Given the description of an element on the screen output the (x, y) to click on. 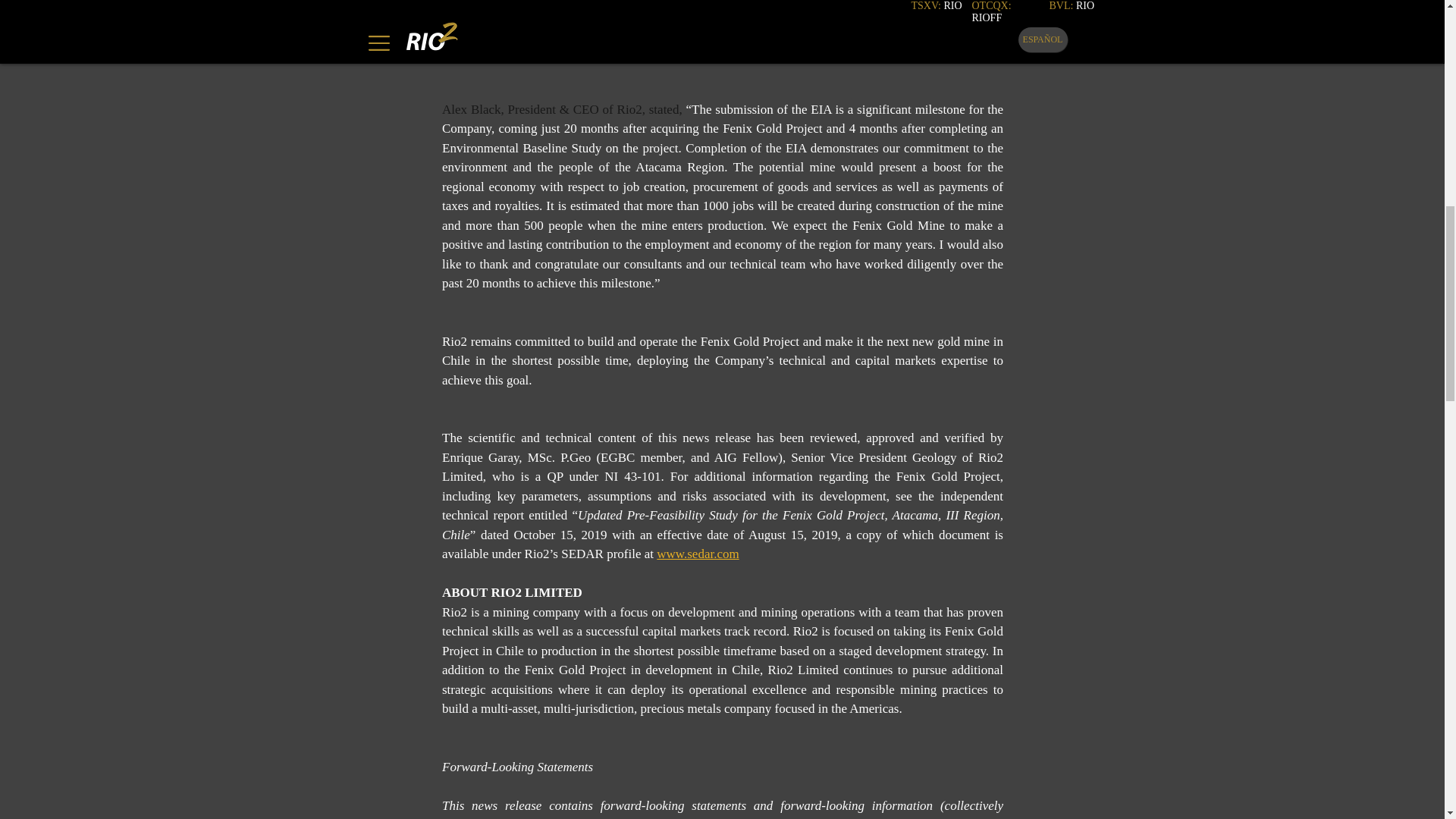
www.sedar.com (697, 554)
